Given the description of an element on the screen output the (x, y) to click on. 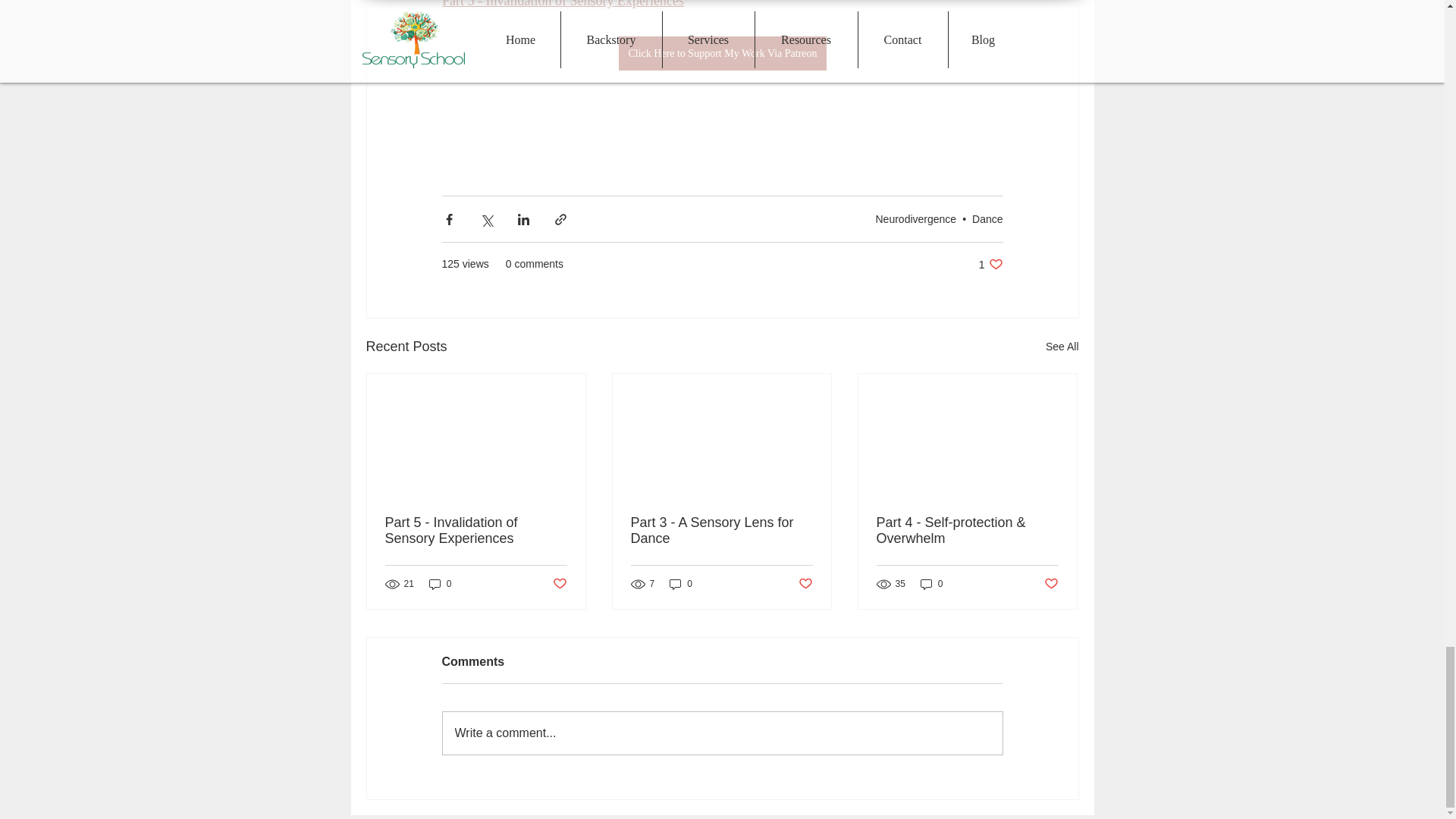
0 (440, 584)
Click Here to Support My Work Via Patreon (721, 53)
See All (1061, 346)
Neurodivergence (915, 218)
Dance (987, 218)
Part 5 - Invalidation of Sensory Experiences (990, 264)
Part 5 - Invalidation of Sensory Experiences (561, 4)
